Given the description of an element on the screen output the (x, y) to click on. 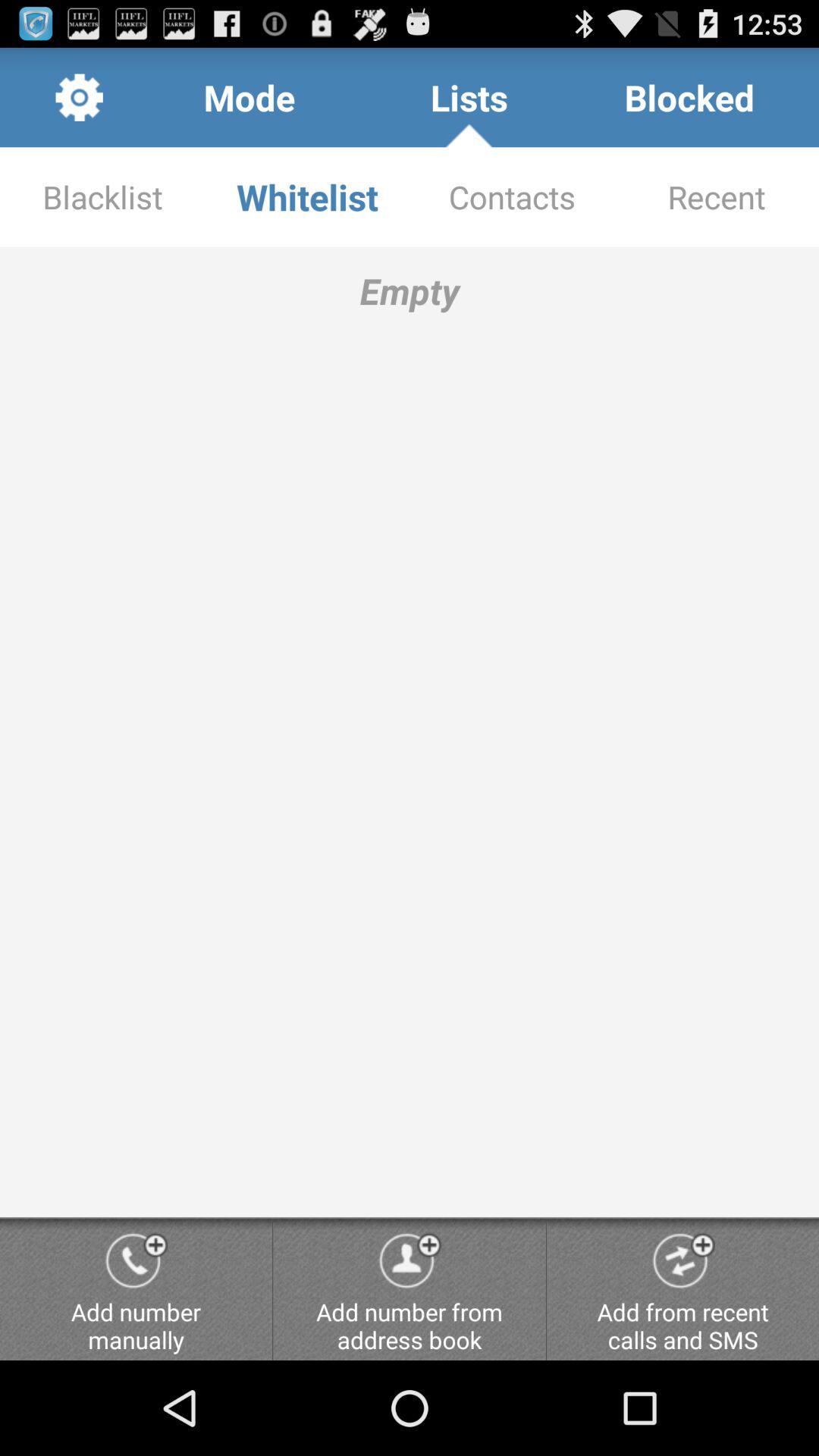
tap the icon next to lists (689, 97)
